Given the description of an element on the screen output the (x, y) to click on. 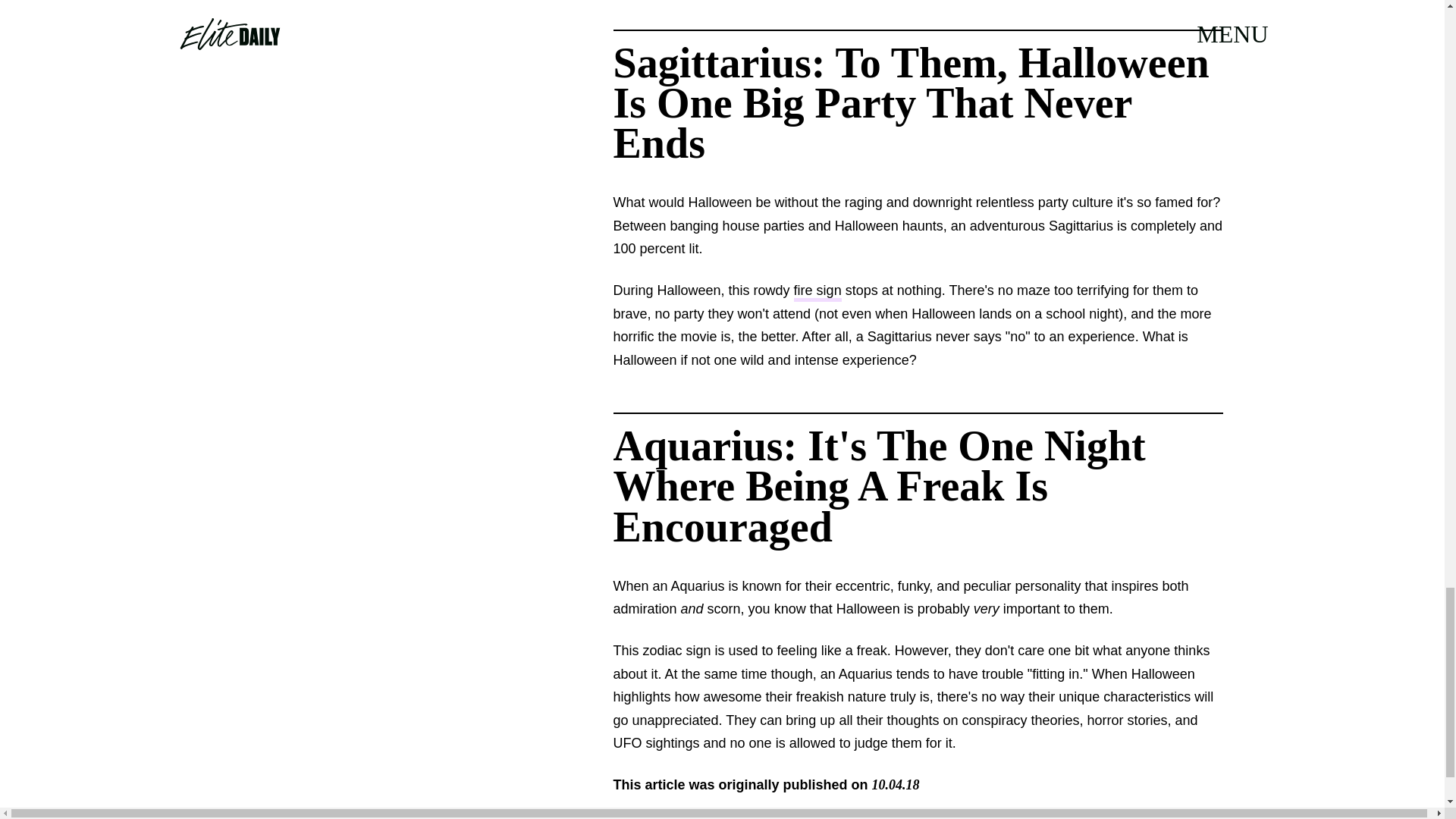
fire sign (817, 292)
